Given the description of an element on the screen output the (x, y) to click on. 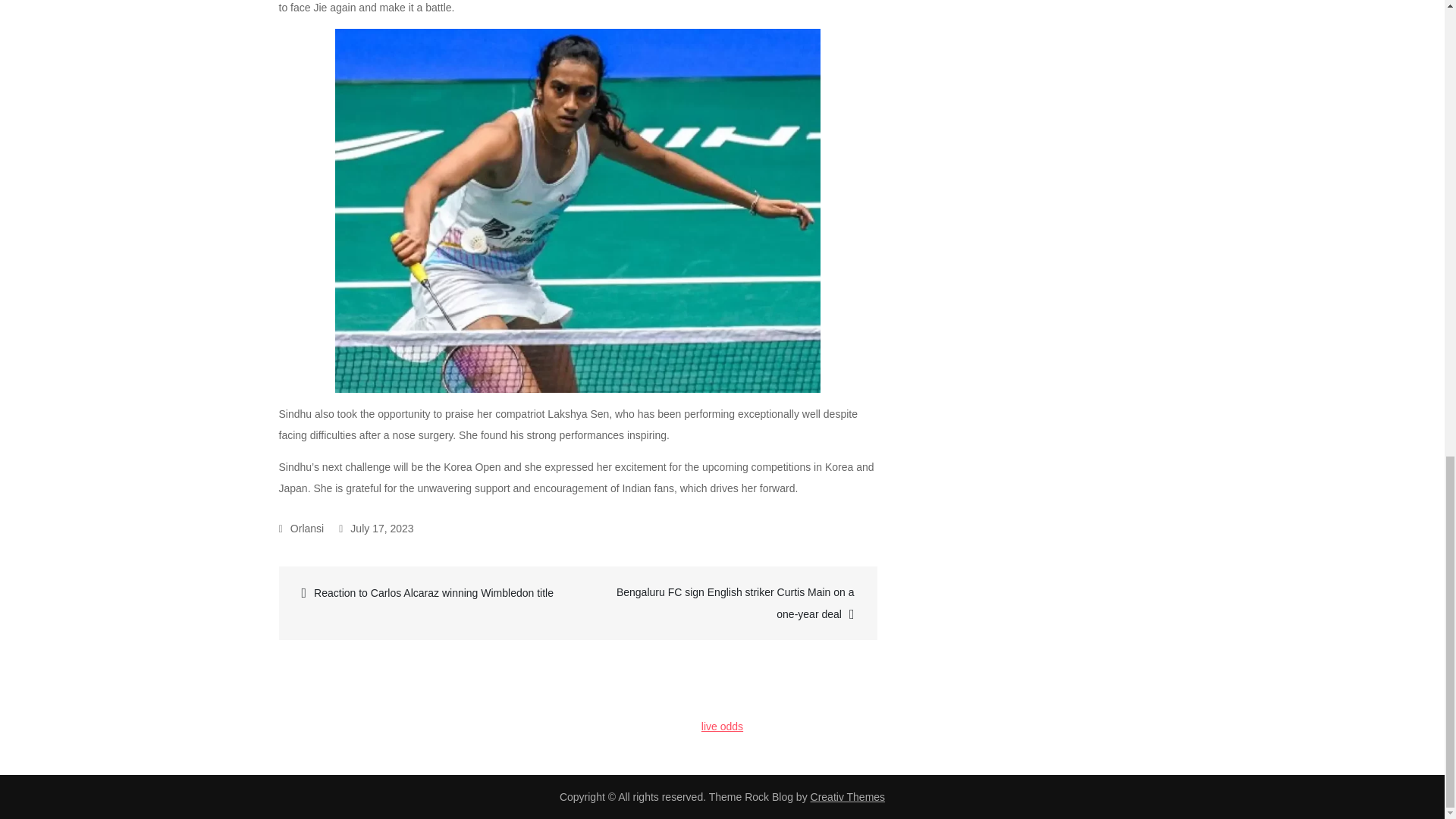
live odds (721, 726)
July 17, 2023 (376, 528)
Reaction to Carlos Alcaraz winning Wimbledon title (430, 592)
Orlansi (301, 528)
Creativ Themes (847, 797)
